Given the description of an element on the screen output the (x, y) to click on. 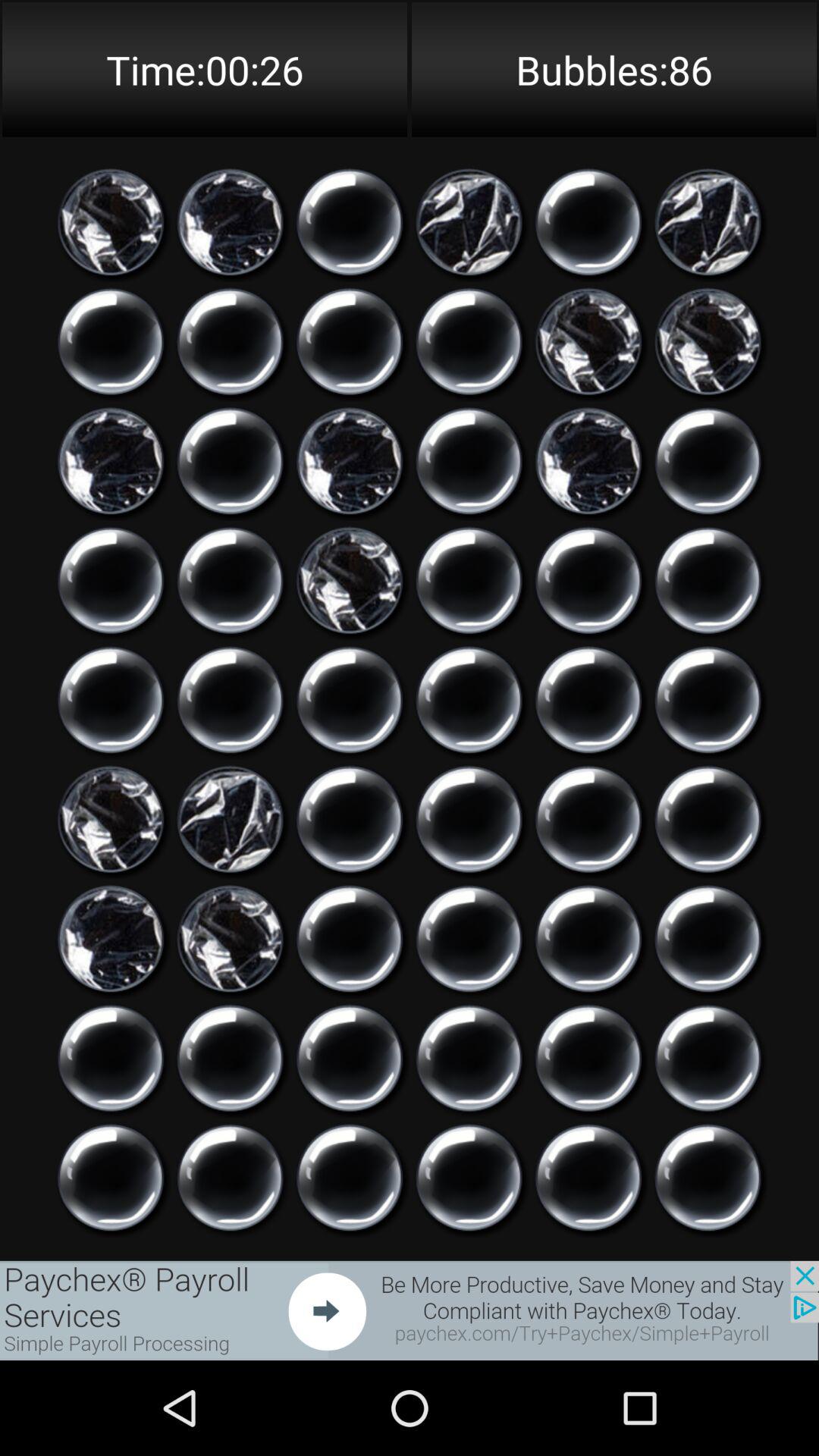
choose a bubble (349, 938)
